Given the description of an element on the screen output the (x, y) to click on. 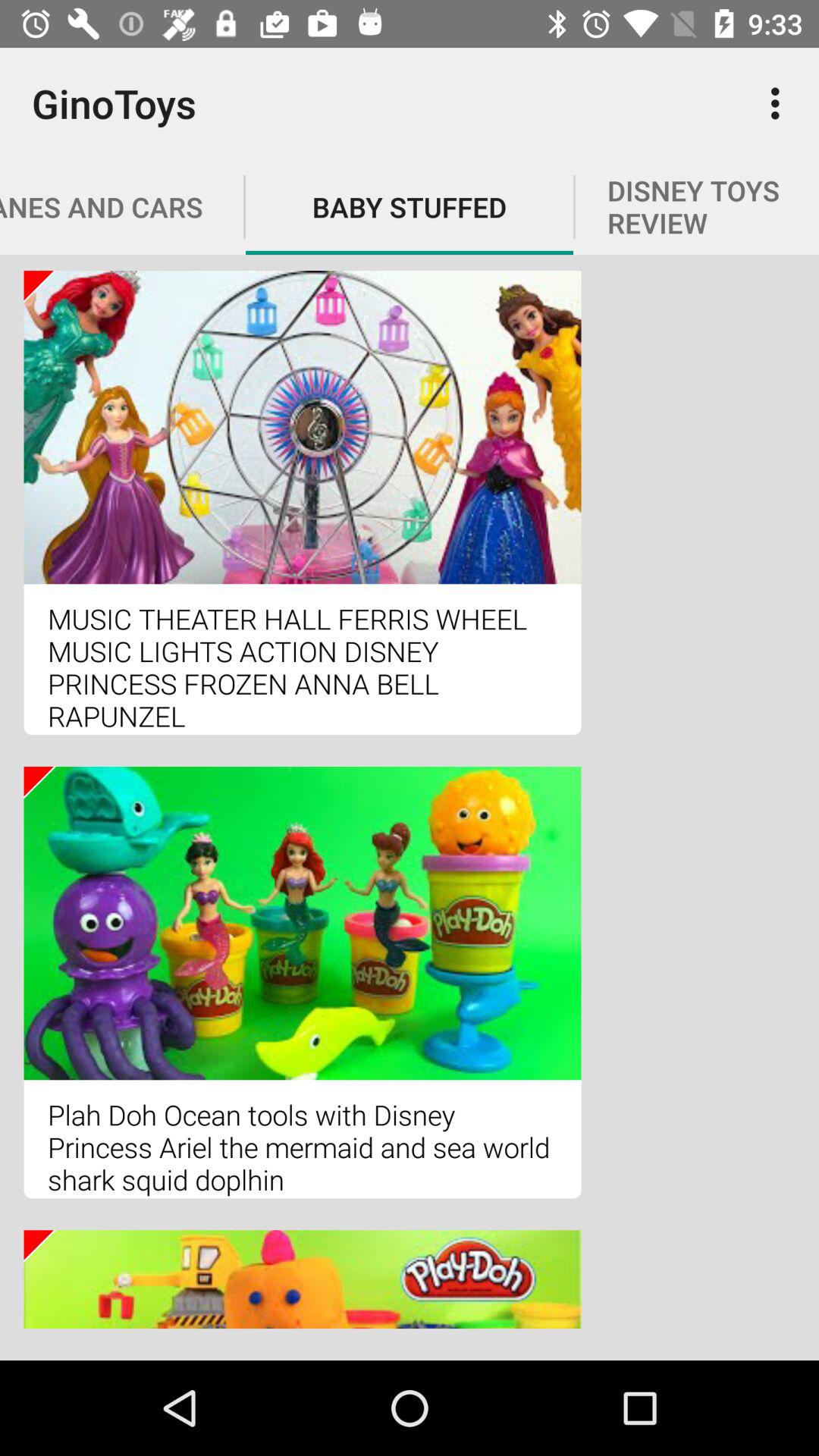
turn off icon to the right of baby stuffed icon (779, 103)
